Given the description of an element on the screen output the (x, y) to click on. 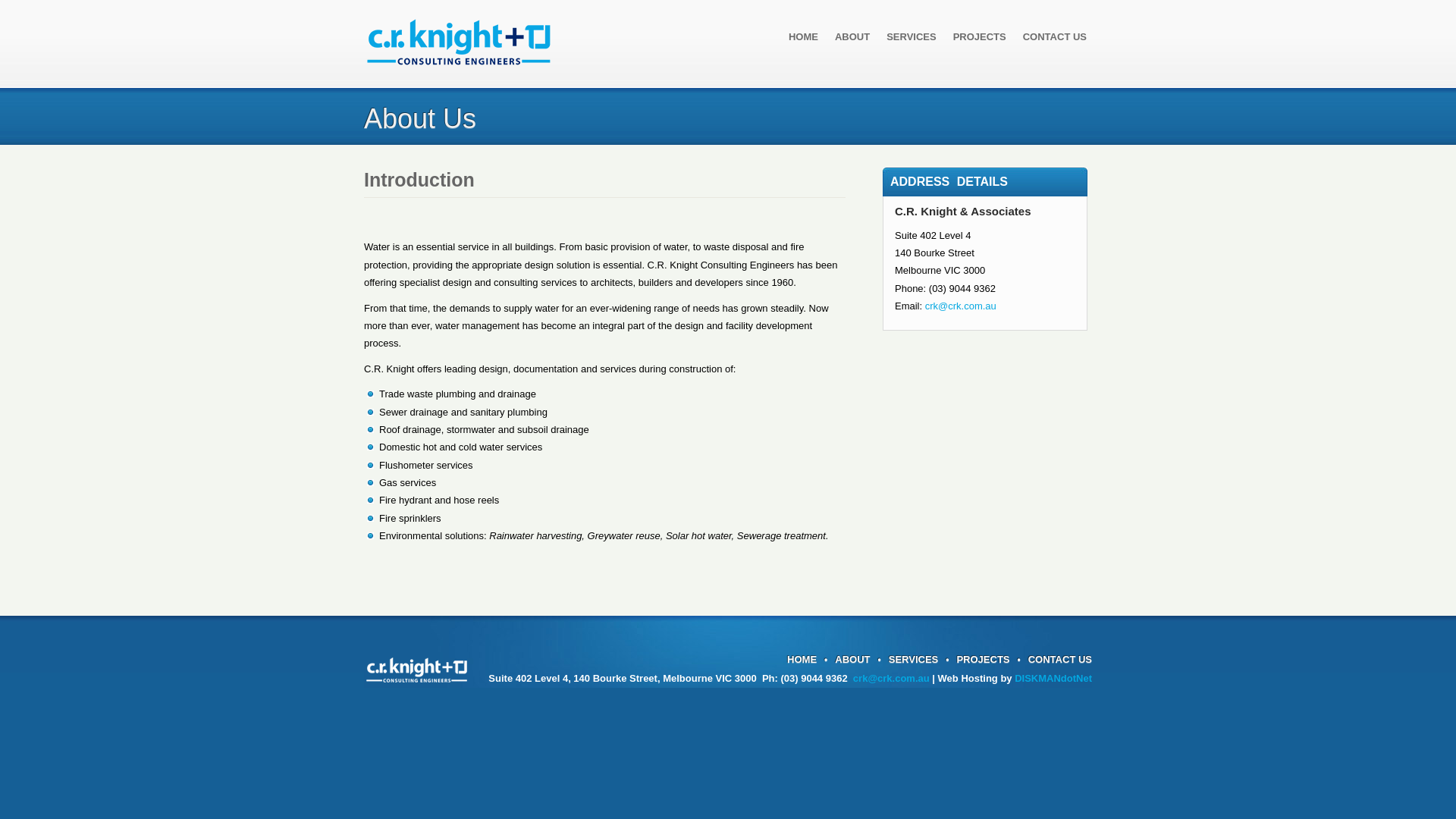
CONTACT US Element type: text (1054, 36)
ABOUT Element type: text (852, 36)
HOME Element type: text (801, 659)
HOME Element type: text (803, 36)
ABOUT Element type: text (851, 659)
PROJECTS Element type: text (982, 659)
PROJECTS Element type: text (979, 36)
DISKMANdotNet Element type: text (1053, 678)
crk@crk.com.au Element type: text (960, 305)
SERVICES Element type: text (911, 36)
crk@crk.com.au Element type: text (891, 678)
CONTACT US Element type: text (1060, 659)
SERVICES Element type: text (913, 659)
